Given the description of an element on the screen output the (x, y) to click on. 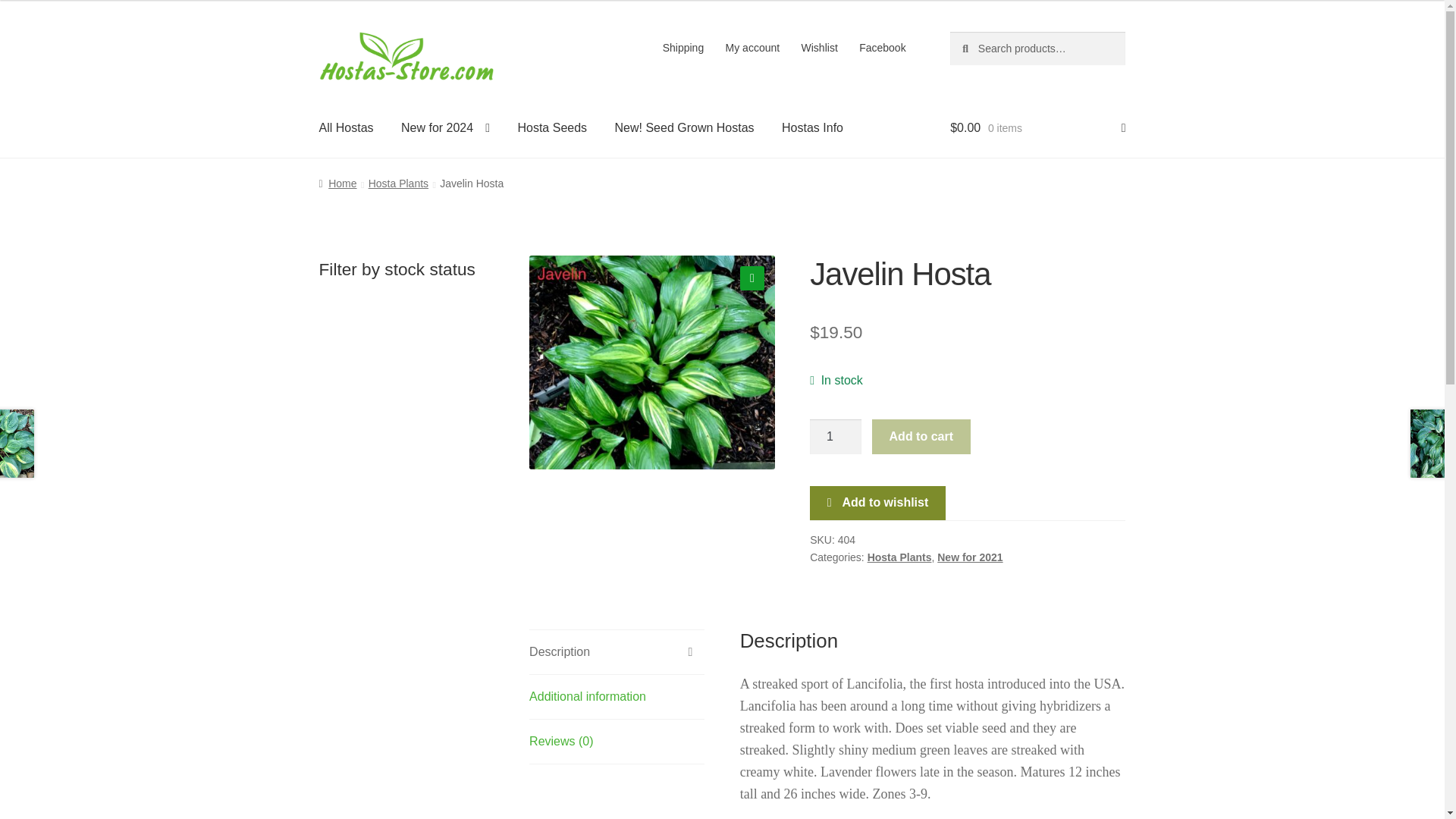
Hosta Plants (398, 183)
Add to cart (921, 436)
Hosta Seeds (551, 128)
Home (337, 183)
My account (752, 47)
Shipping (682, 47)
Hostas Info (813, 128)
Facebook (882, 47)
View your shopping cart (1037, 128)
All Hostas (346, 128)
New for 2024 (445, 128)
Add to wishlist (876, 503)
1 (835, 436)
Description (616, 651)
